Given the description of an element on the screen output the (x, y) to click on. 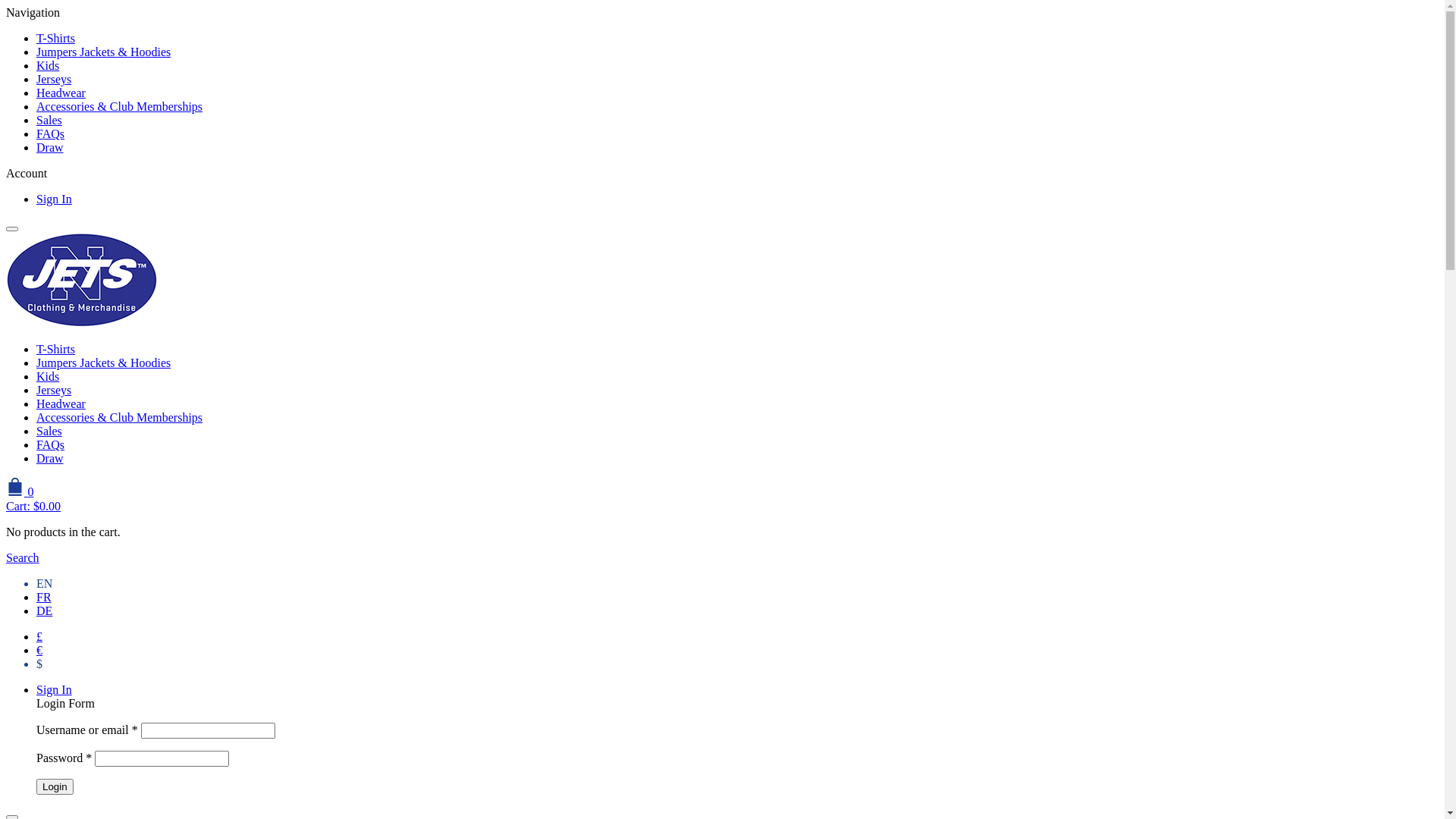
Accessories & Club Memberships Element type: text (119, 417)
Jerseys Element type: text (53, 389)
Sales Element type: text (49, 430)
Jumpers Jackets & Hoodies Element type: text (103, 362)
FR Element type: text (43, 596)
Draw Element type: text (49, 147)
T-Shirts Element type: text (55, 348)
FAQs Element type: text (50, 444)
Login Element type: text (54, 786)
Draw Element type: text (49, 457)
DE Element type: text (44, 610)
Jumpers Jackets & Hoodies Element type: text (103, 51)
0
Cart: $0.00 Element type: text (461, 494)
Accessories & Club Memberships Element type: text (119, 106)
Search Element type: text (22, 557)
Jerseys Element type: text (53, 78)
Kids Element type: text (47, 376)
Sign In Element type: text (54, 198)
Sales Element type: text (49, 119)
FAQs Element type: text (50, 133)
Kids Element type: text (47, 65)
T-Shirts Element type: text (55, 37)
Sign In Element type: text (54, 689)
Headwear Element type: text (60, 92)
Headwear Element type: text (60, 403)
